Given the description of an element on the screen output the (x, y) to click on. 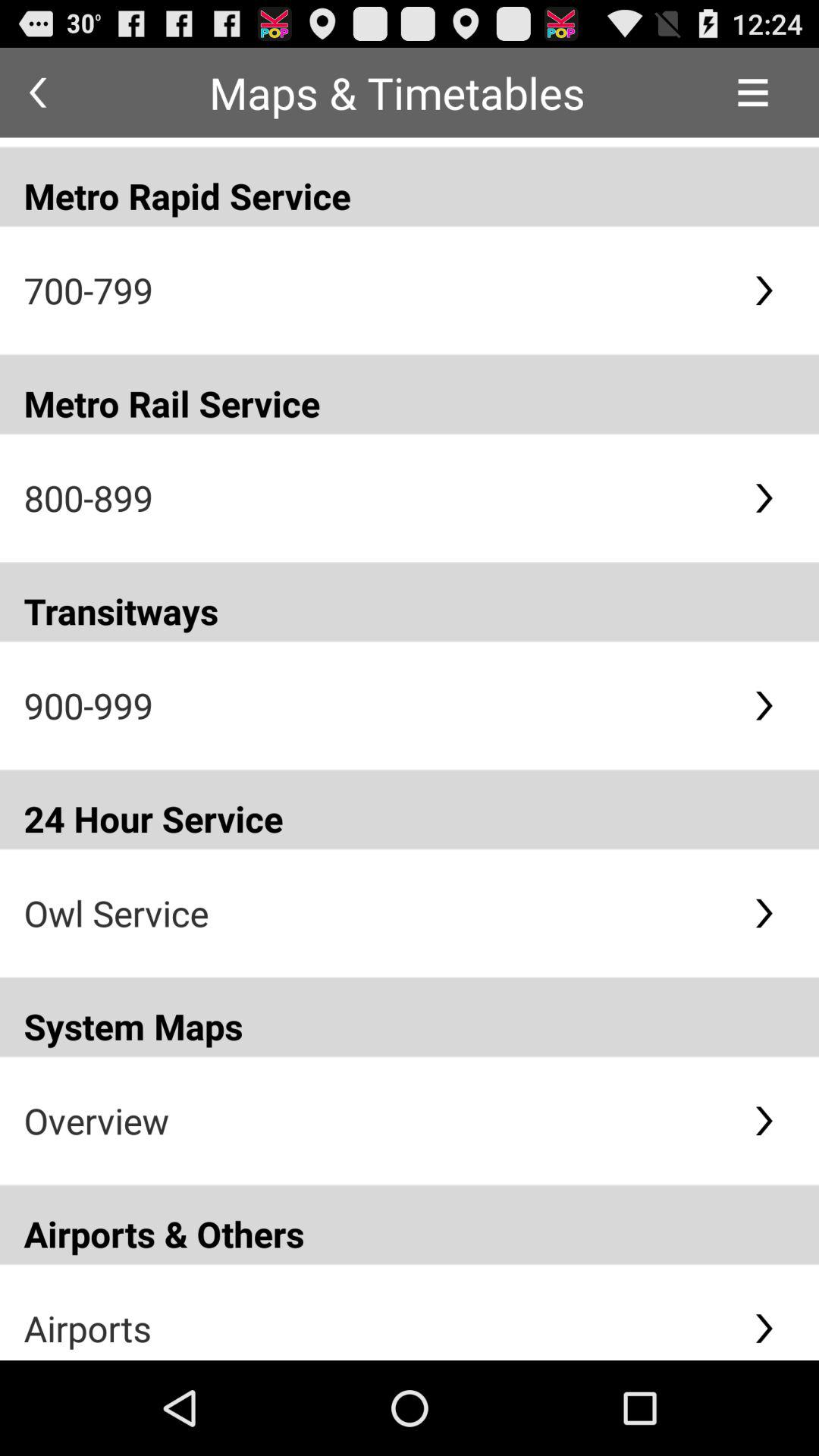
launch icon above airports & others item (376, 1120)
